Given the description of an element on the screen output the (x, y) to click on. 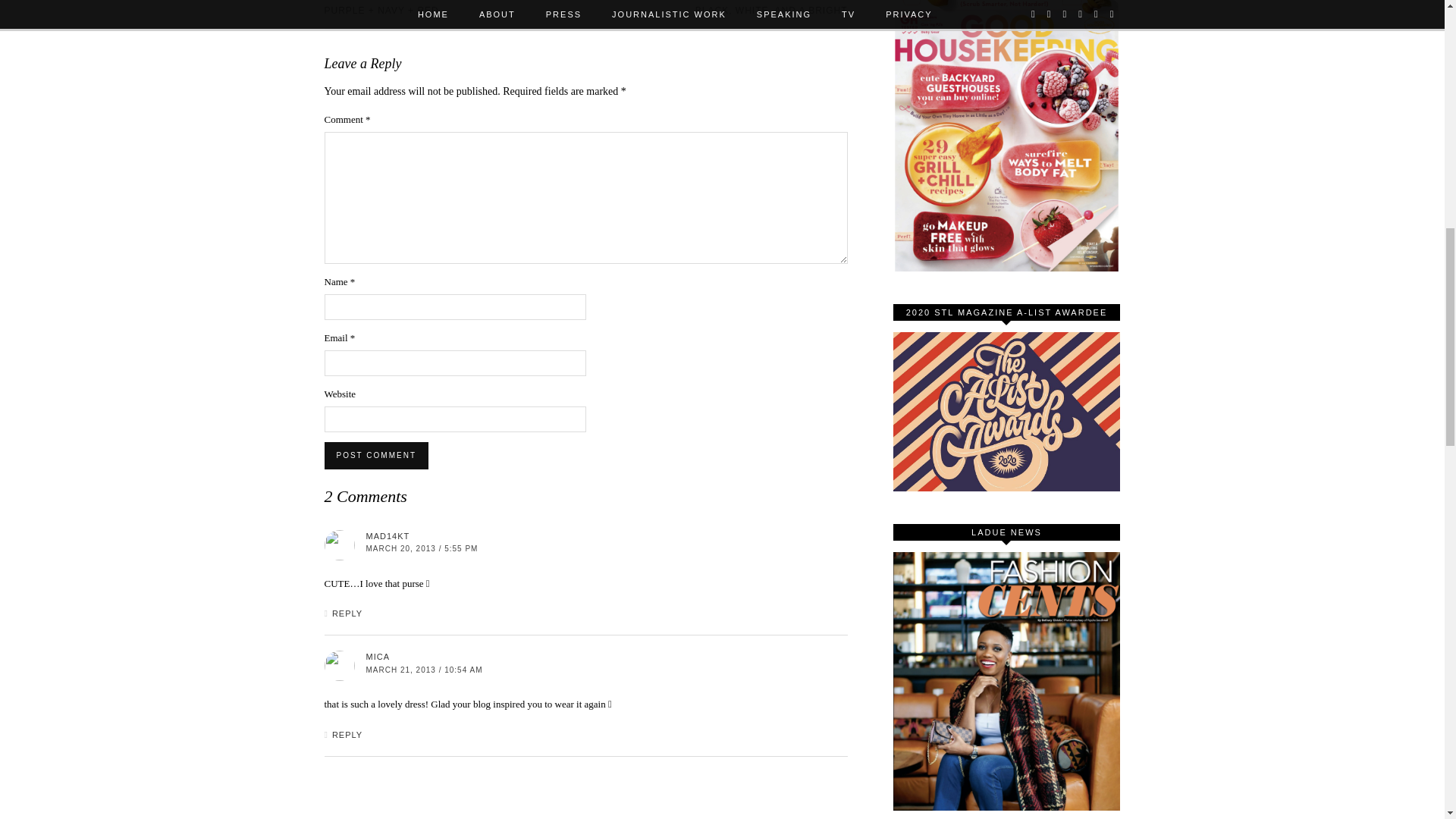
Post Comment (376, 455)
